Given the description of an element on the screen output the (x, y) to click on. 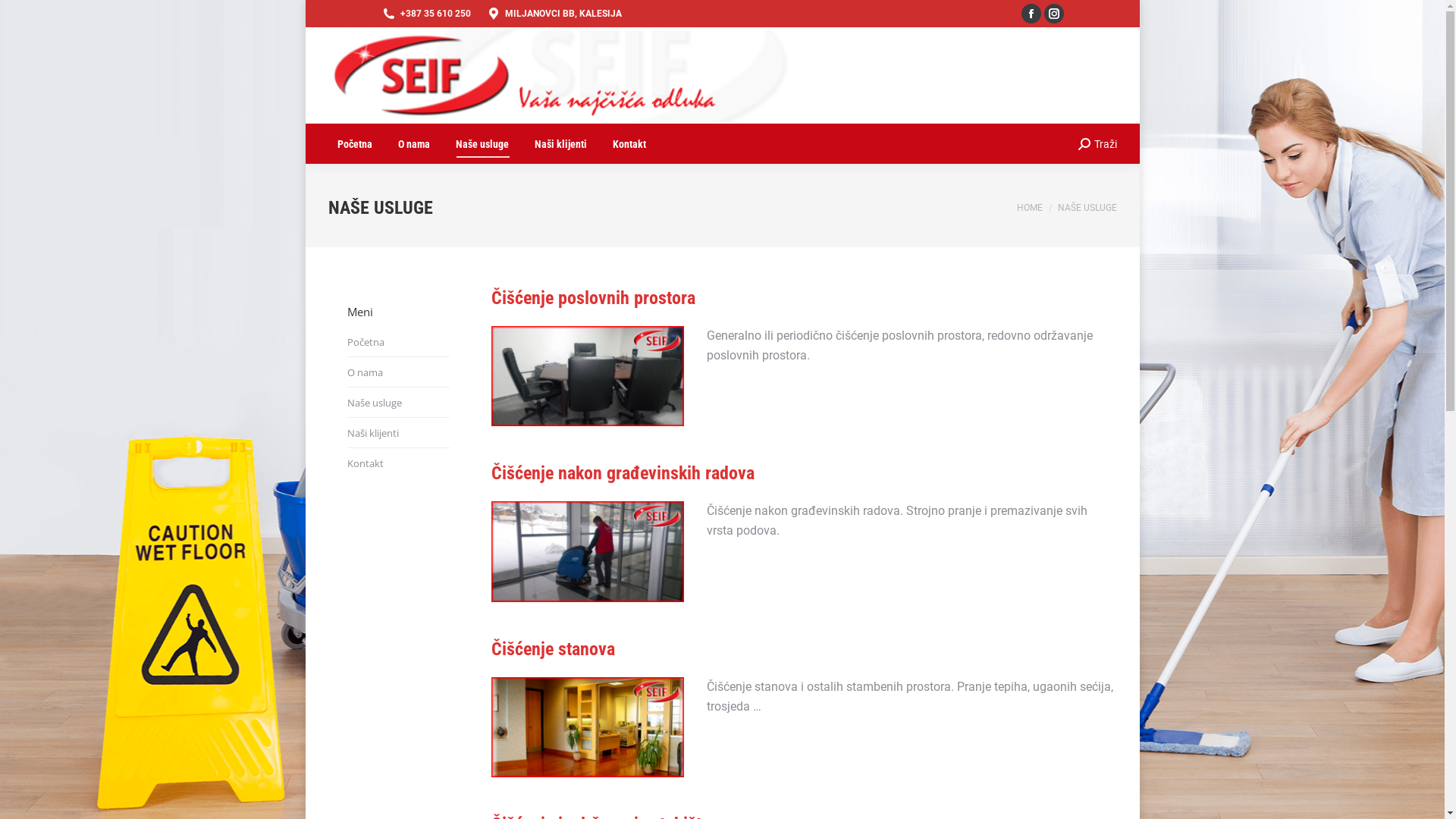
Go! Element type: text (20, 14)
ciscenje-stanova Element type: hover (587, 727)
ciscenje-nakon-gradjevinskih-radova Element type: hover (587, 551)
ciscenje-poslovnih-prostora Element type: hover (587, 376)
O nama Element type: text (364, 371)
Kontakt Element type: text (629, 143)
O nama Element type: text (413, 143)
Instagram page opens in new window Element type: text (1053, 13)
HOME Element type: text (1028, 206)
Facebook page opens in new window Element type: text (1030, 13)
Kontakt Element type: text (365, 462)
+387 35 610 250 Element type: text (425, 13)
